Given the description of an element on the screen output the (x, y) to click on. 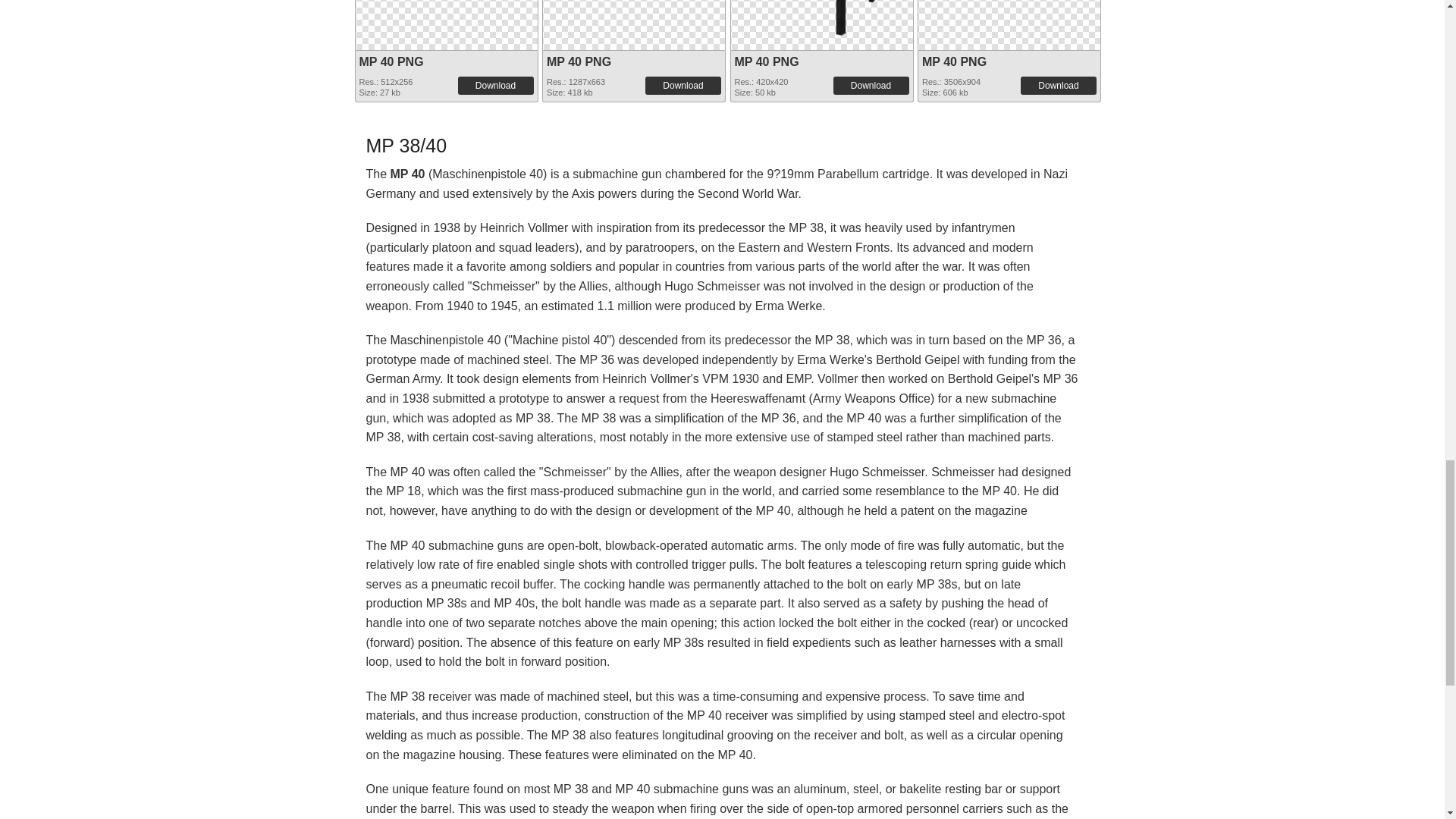
MP 40 PNG (954, 61)
MP 40 PNG (765, 61)
Download (682, 85)
Download (870, 85)
MP 40 PNG (579, 61)
Download (1058, 85)
MP 40 PNG (391, 61)
Download (496, 85)
